Given the description of an element on the screen output the (x, y) to click on. 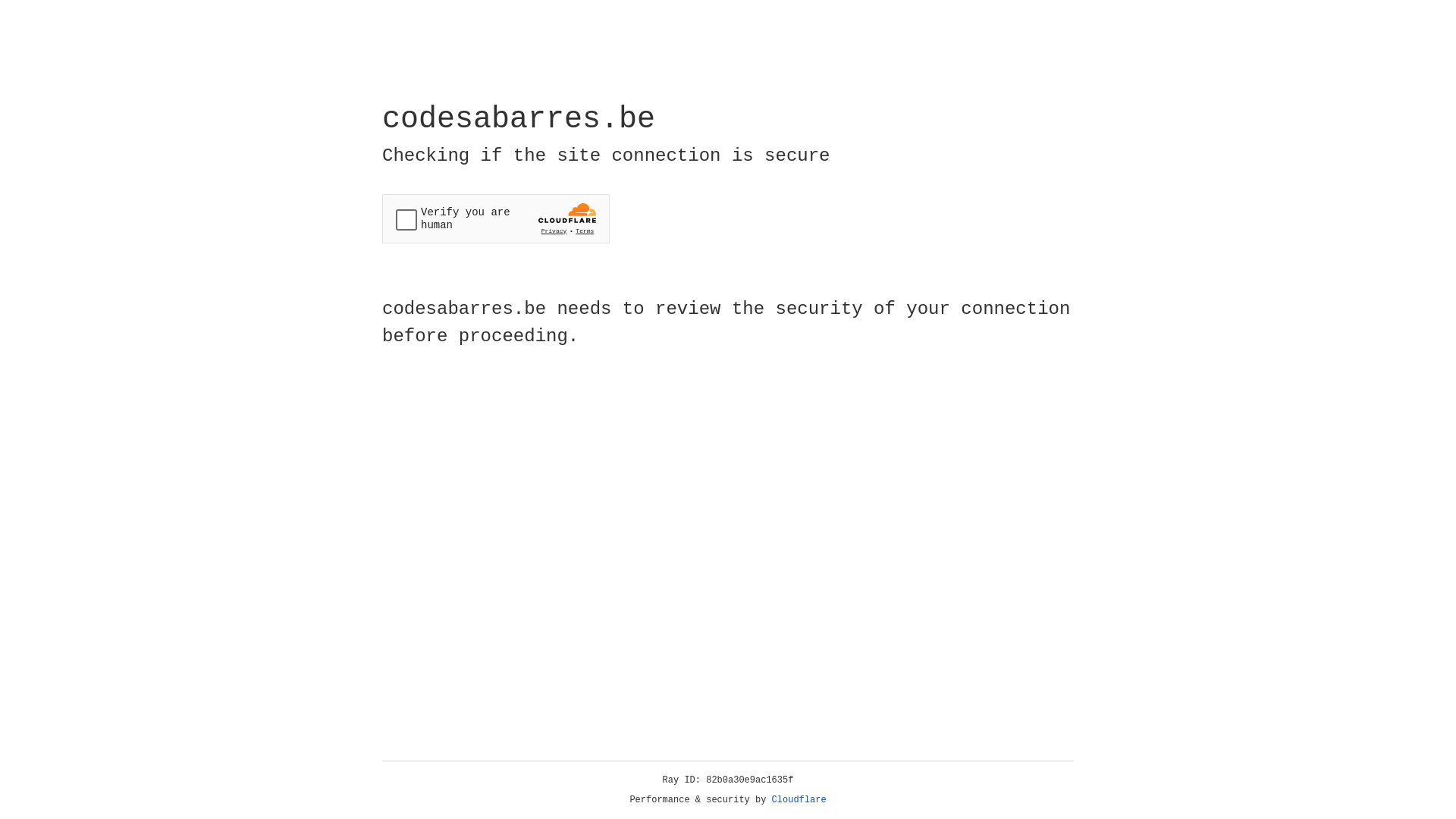
Cloudflare Element type: text (798, 799)
Widget containing a Cloudflare security challenge Element type: hover (495, 218)
